Given the description of an element on the screen output the (x, y) to click on. 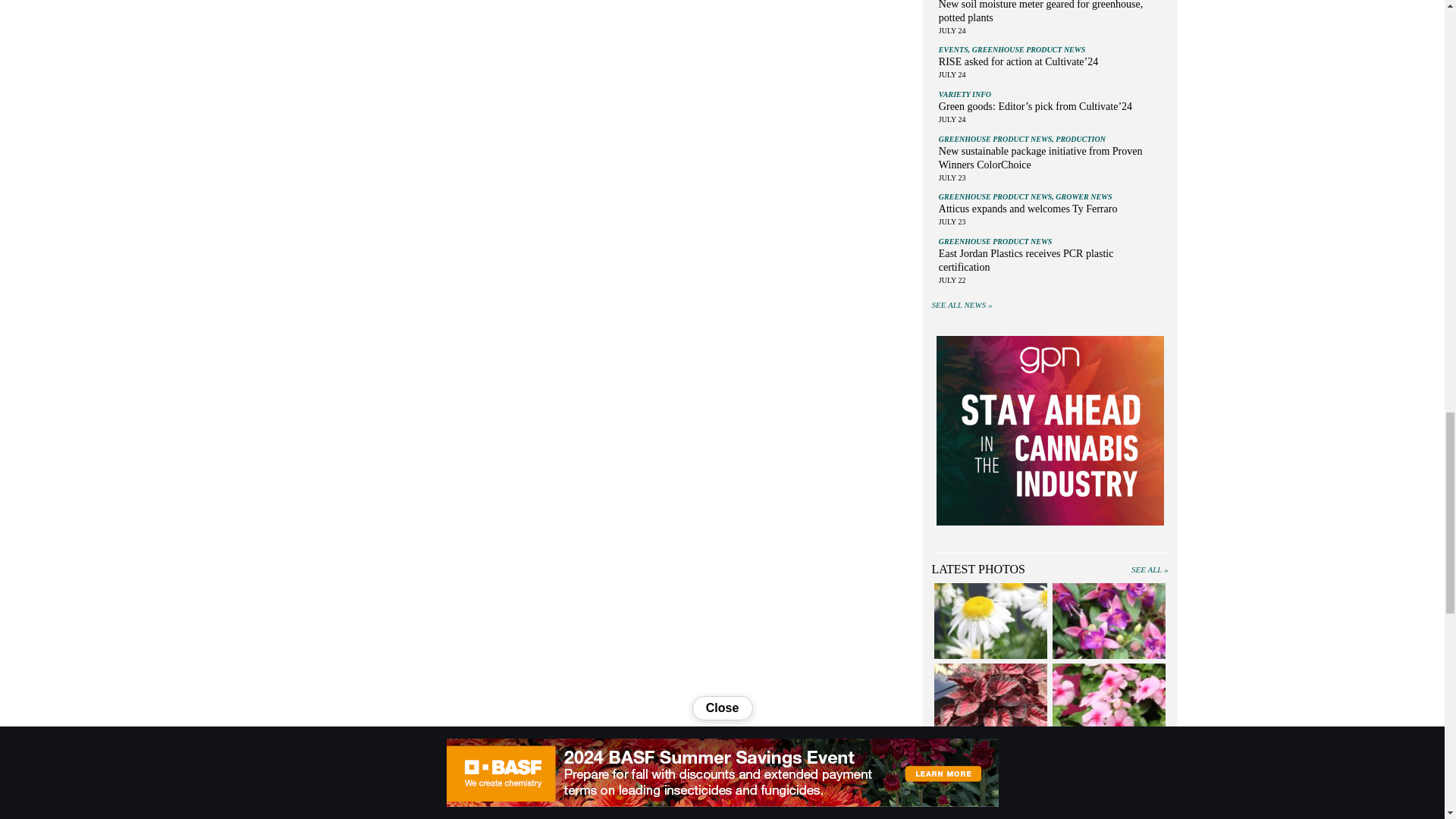
Get your copy (1049, 432)
